Given the description of an element on the screen output the (x, y) to click on. 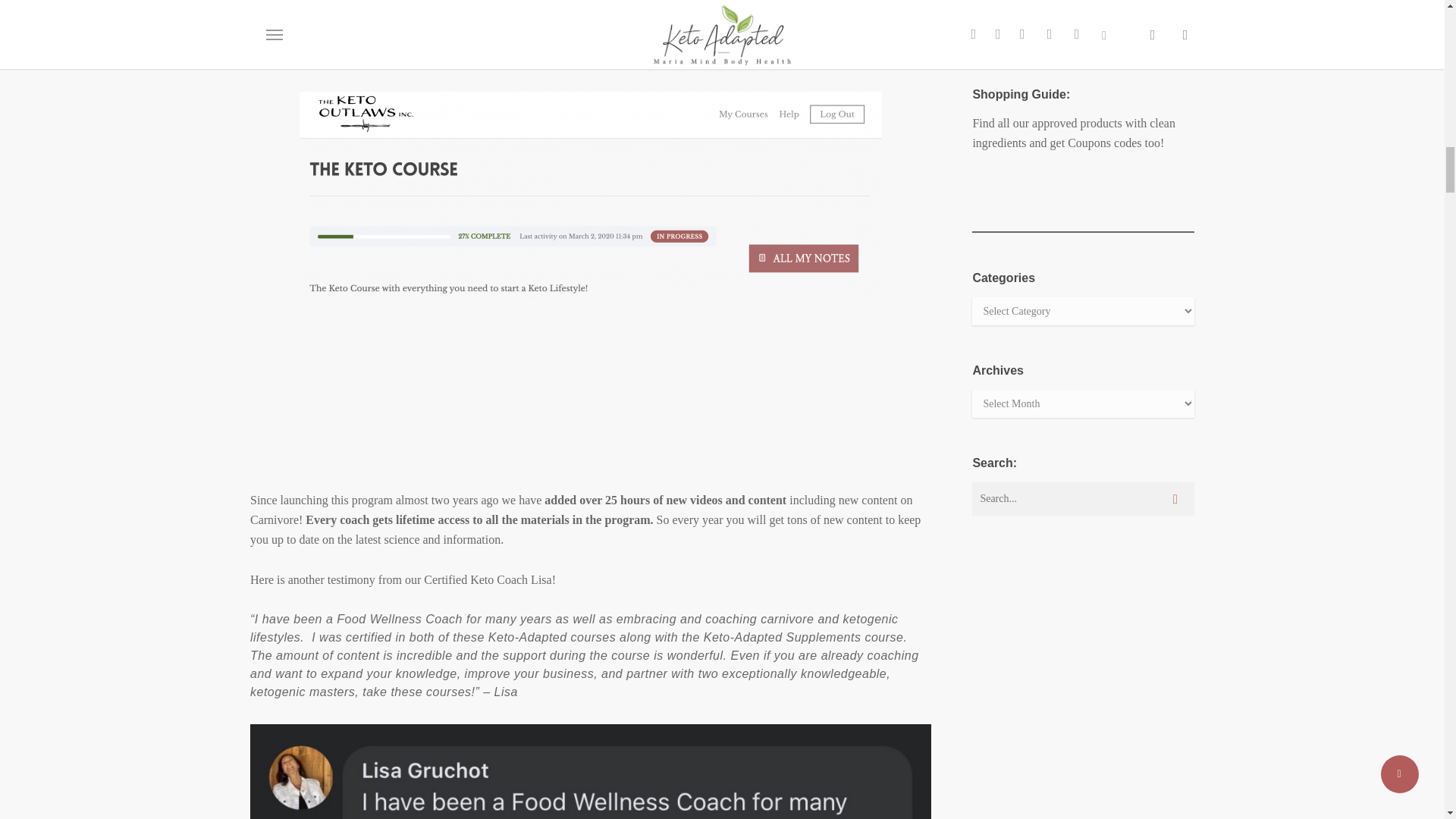
Search for: (1082, 498)
